Given the description of an element on the screen output the (x, y) to click on. 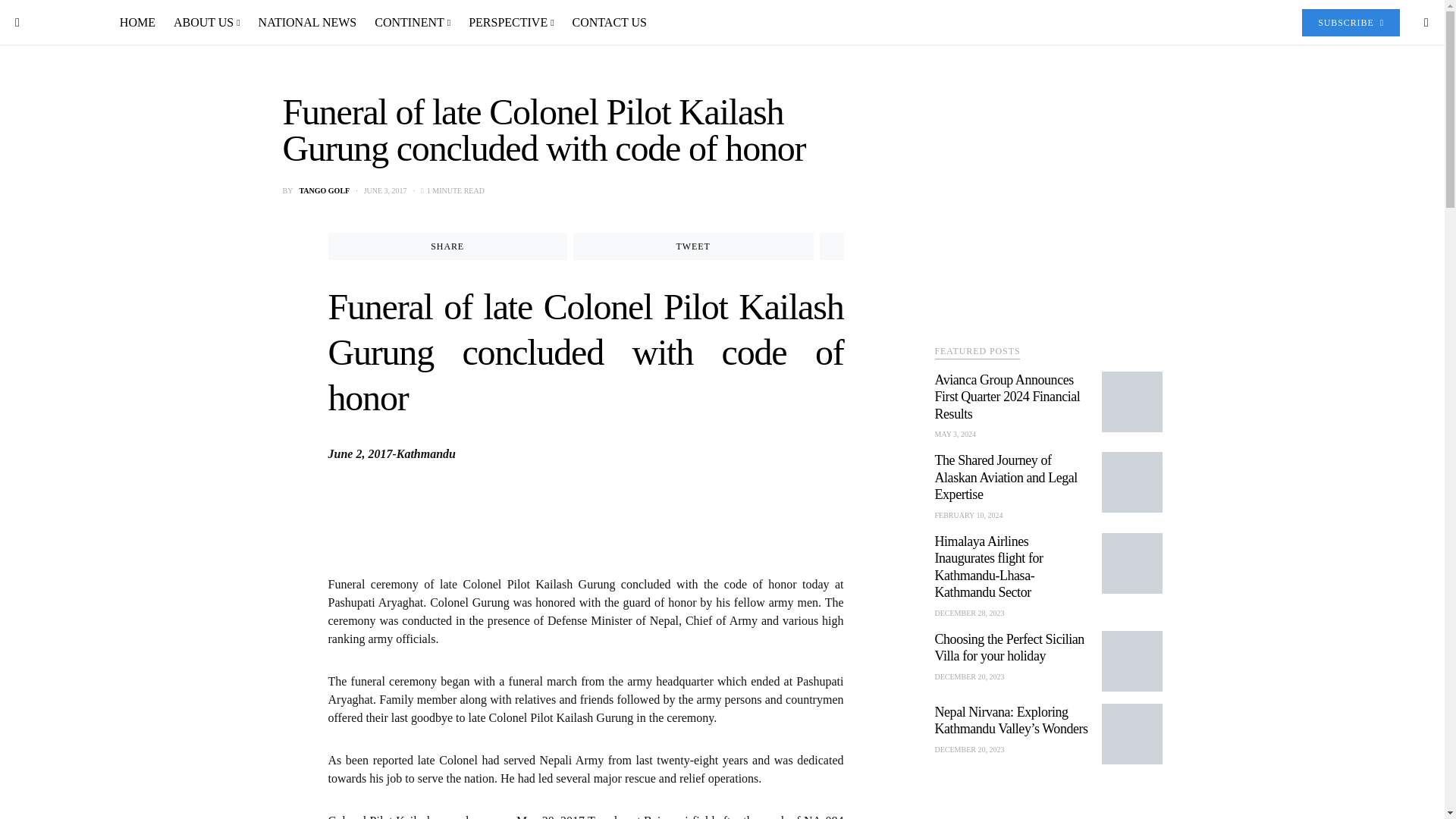
HOME (141, 22)
TANGO GOLF (323, 190)
CONTINENT (412, 22)
SUBSCRIBE (1350, 22)
NATIONAL NEWS (307, 22)
ABOUT US (206, 22)
PERSPECTIVE (511, 22)
CONTACT US (604, 22)
View all posts by Tango Golf (323, 190)
